Given the description of an element on the screen output the (x, y) to click on. 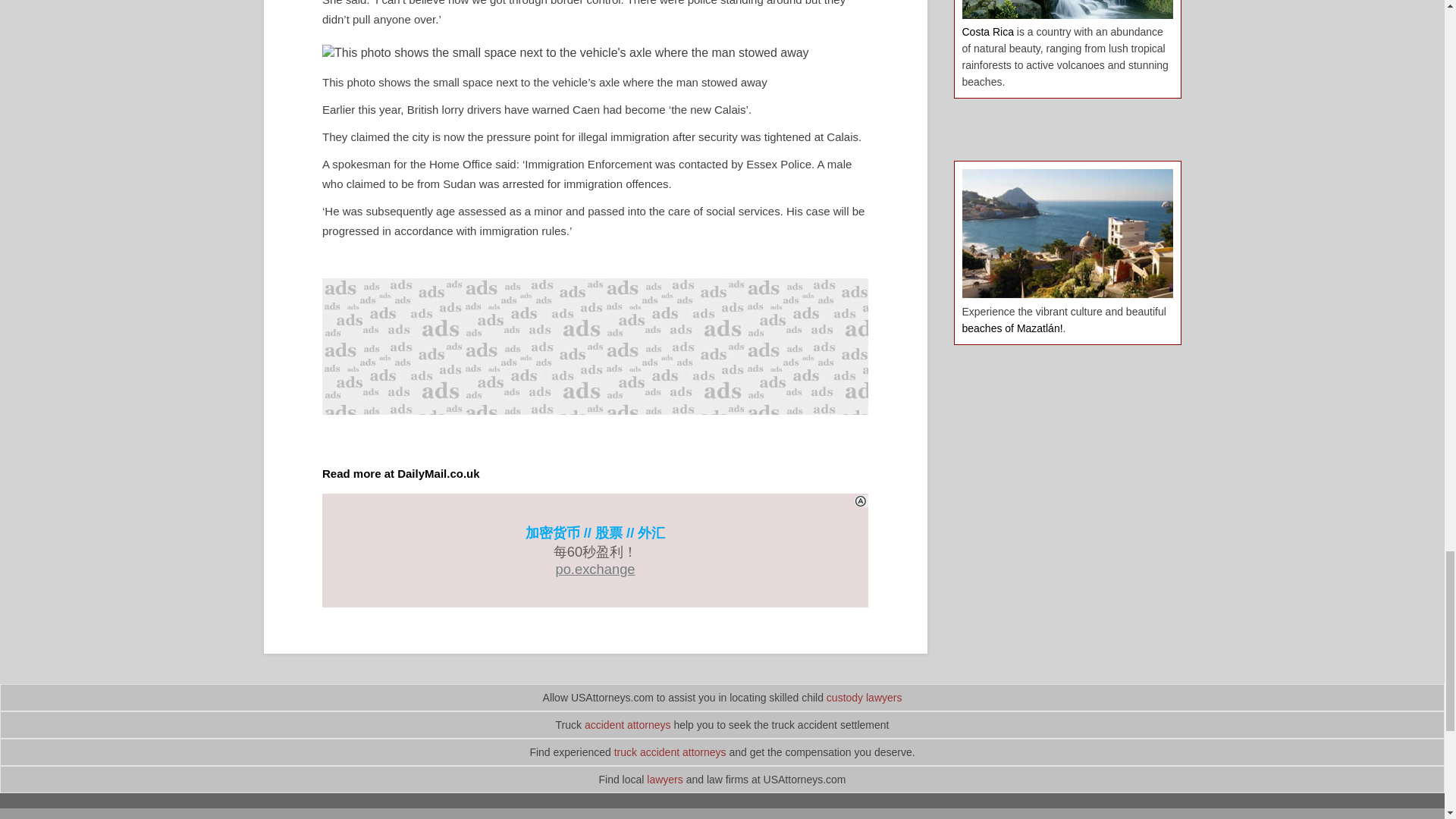
Read more at DailyMail.co.uk (400, 472)
lawyers (664, 779)
truck accident attorneys (670, 752)
custody lawyers (864, 697)
Costa Rica (986, 31)
accident attorneys (628, 725)
